Given the description of an element on the screen output the (x, y) to click on. 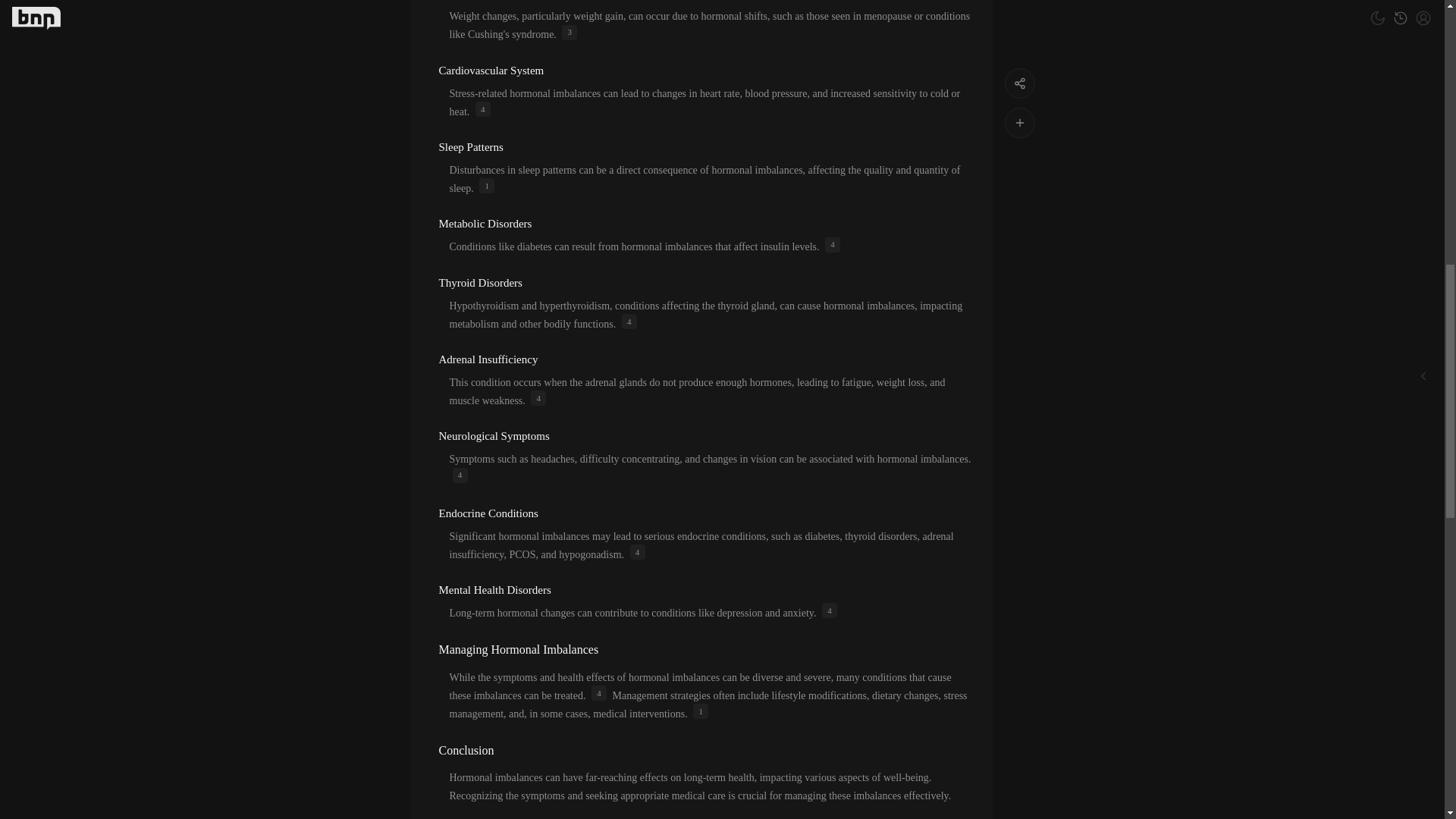
4 (459, 475)
4 (538, 397)
4 (629, 321)
4 (599, 693)
3 (569, 32)
4 (829, 610)
4 (483, 109)
1 (700, 711)
4 (637, 551)
1 (487, 185)
4 (832, 244)
